Given the description of an element on the screen output the (x, y) to click on. 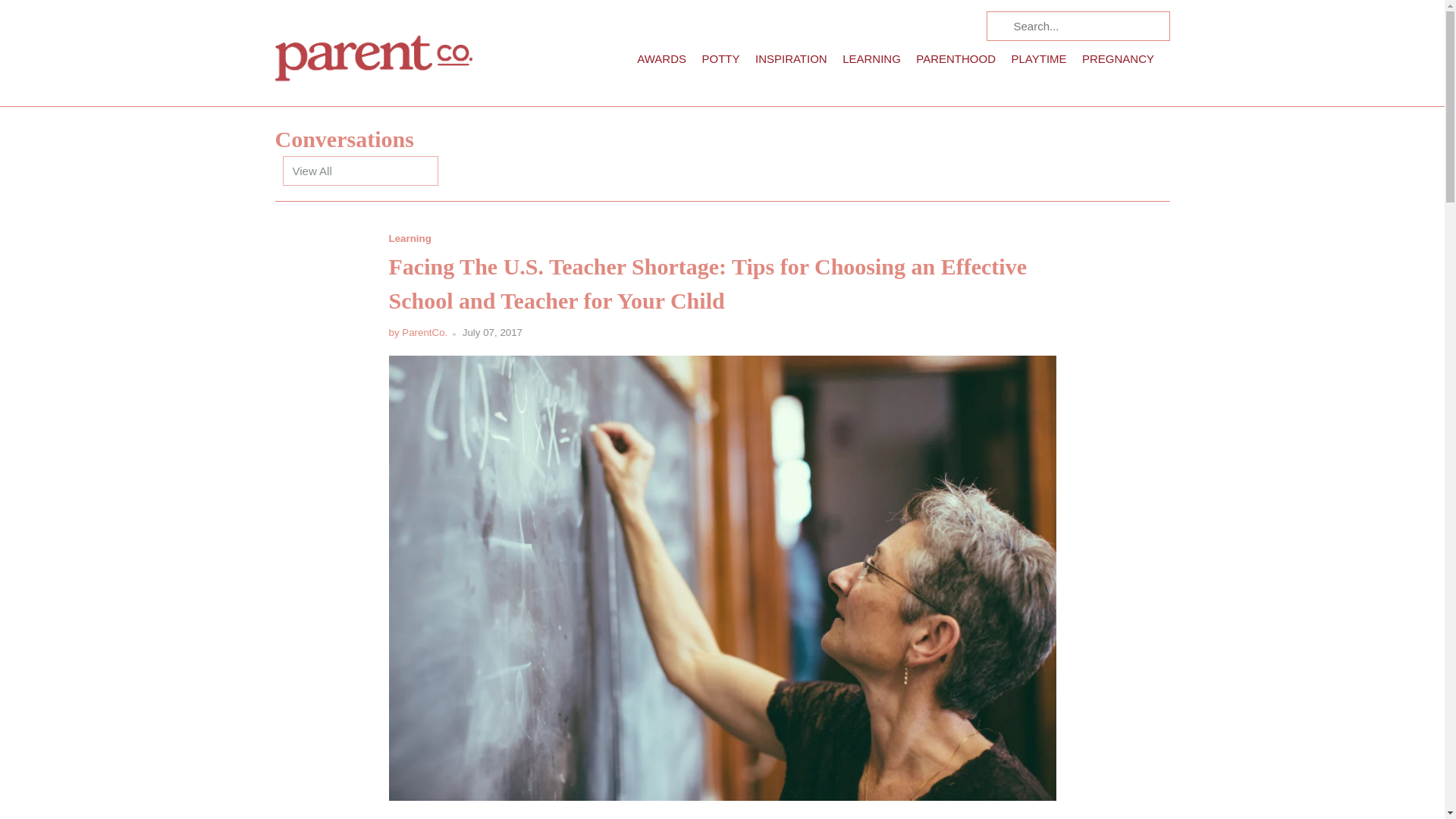
POTTY (720, 62)
PREGNANCY (1117, 62)
Conversations (344, 138)
PLAYTIME (1037, 62)
Conversations (344, 138)
Conversations tagged Learning (409, 238)
ParentCo. (373, 53)
LEARNING (872, 62)
INSPIRATION (791, 62)
PARENTHOOD (955, 62)
by ParentCo. (417, 332)
AWARDS (661, 62)
Learning (409, 238)
